Given the description of an element on the screen output the (x, y) to click on. 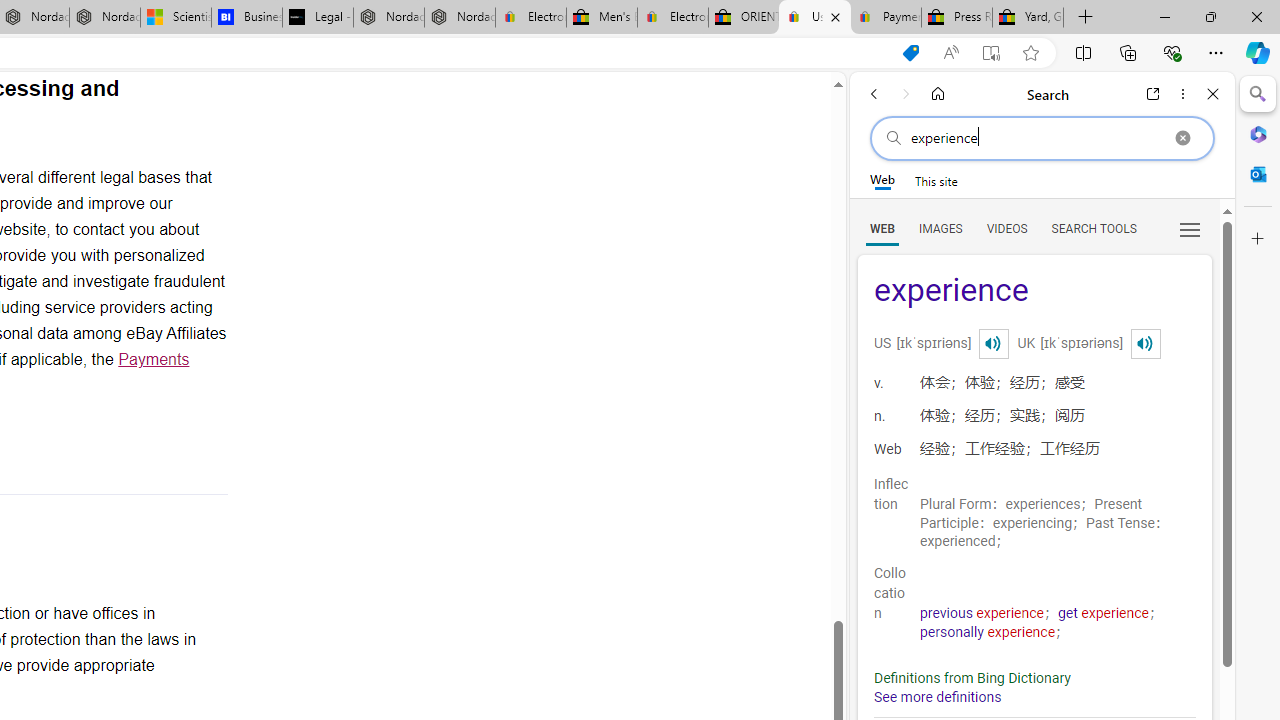
personally experience (988, 632)
This site has coupons! Shopping in Microsoft Edge (910, 53)
